Given the description of an element on the screen output the (x, y) to click on. 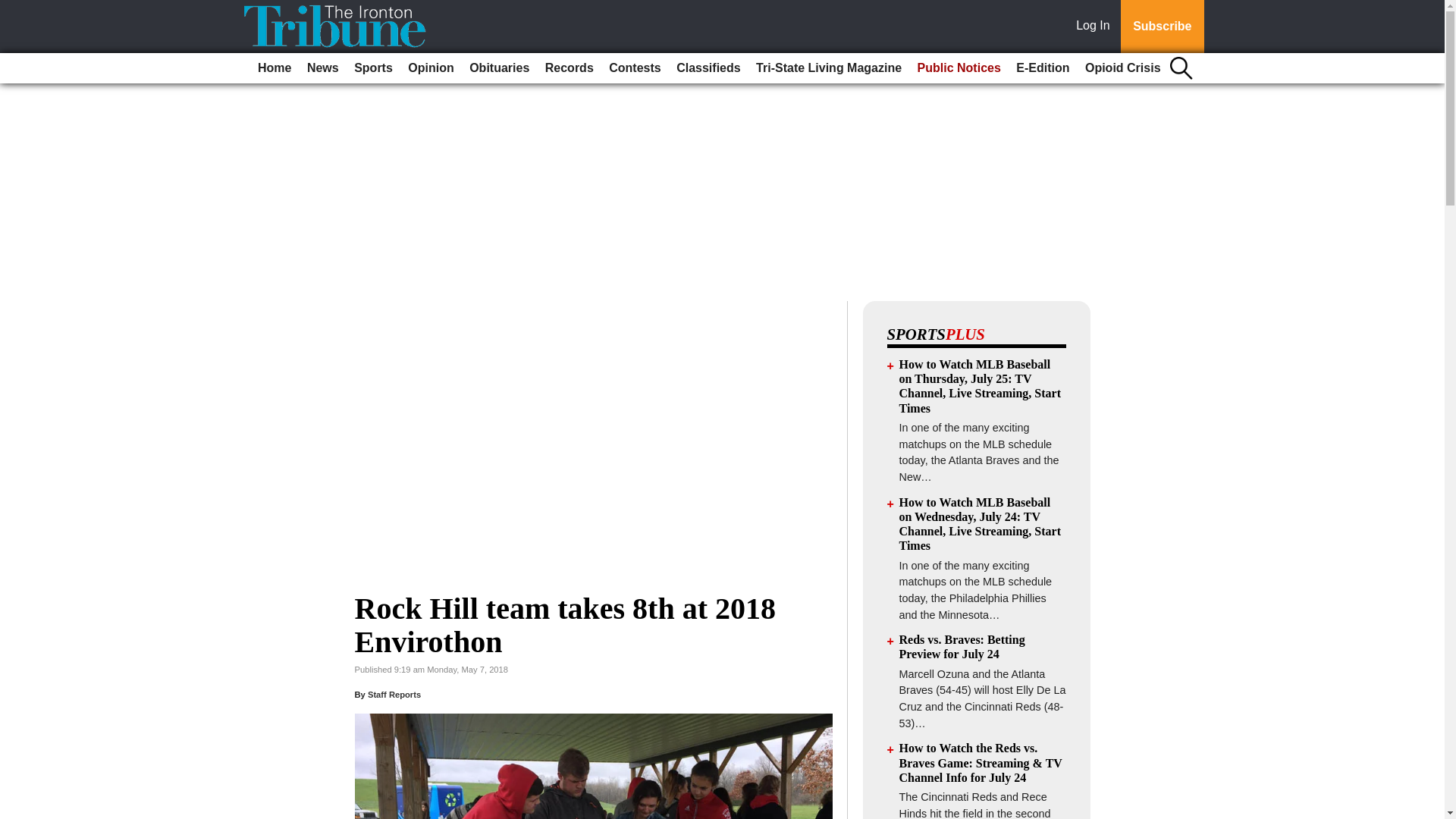
Classifieds (707, 68)
Obituaries (499, 68)
Tri-State Living Magazine (828, 68)
News (323, 68)
Opinion (430, 68)
Opioid Crisis (1122, 68)
Sports (372, 68)
Log In (1095, 26)
Records (568, 68)
Contests (634, 68)
E-Edition (1042, 68)
Subscribe (1162, 26)
Public Notices (959, 68)
